Given the description of an element on the screen output the (x, y) to click on. 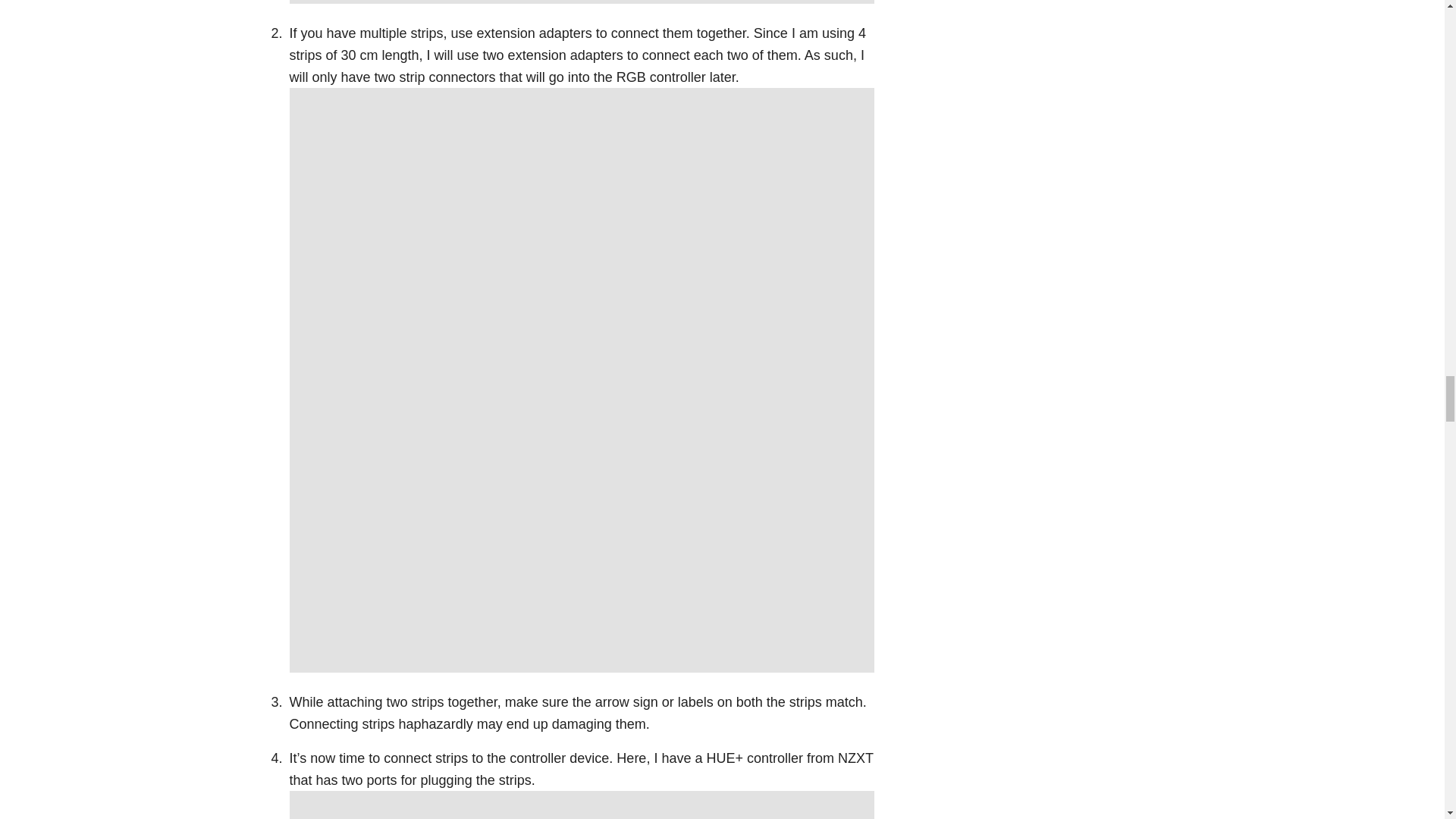
How to Add RGB Lighting to Your PC Case 10 (582, 805)
